Given the description of an element on the screen output the (x, y) to click on. 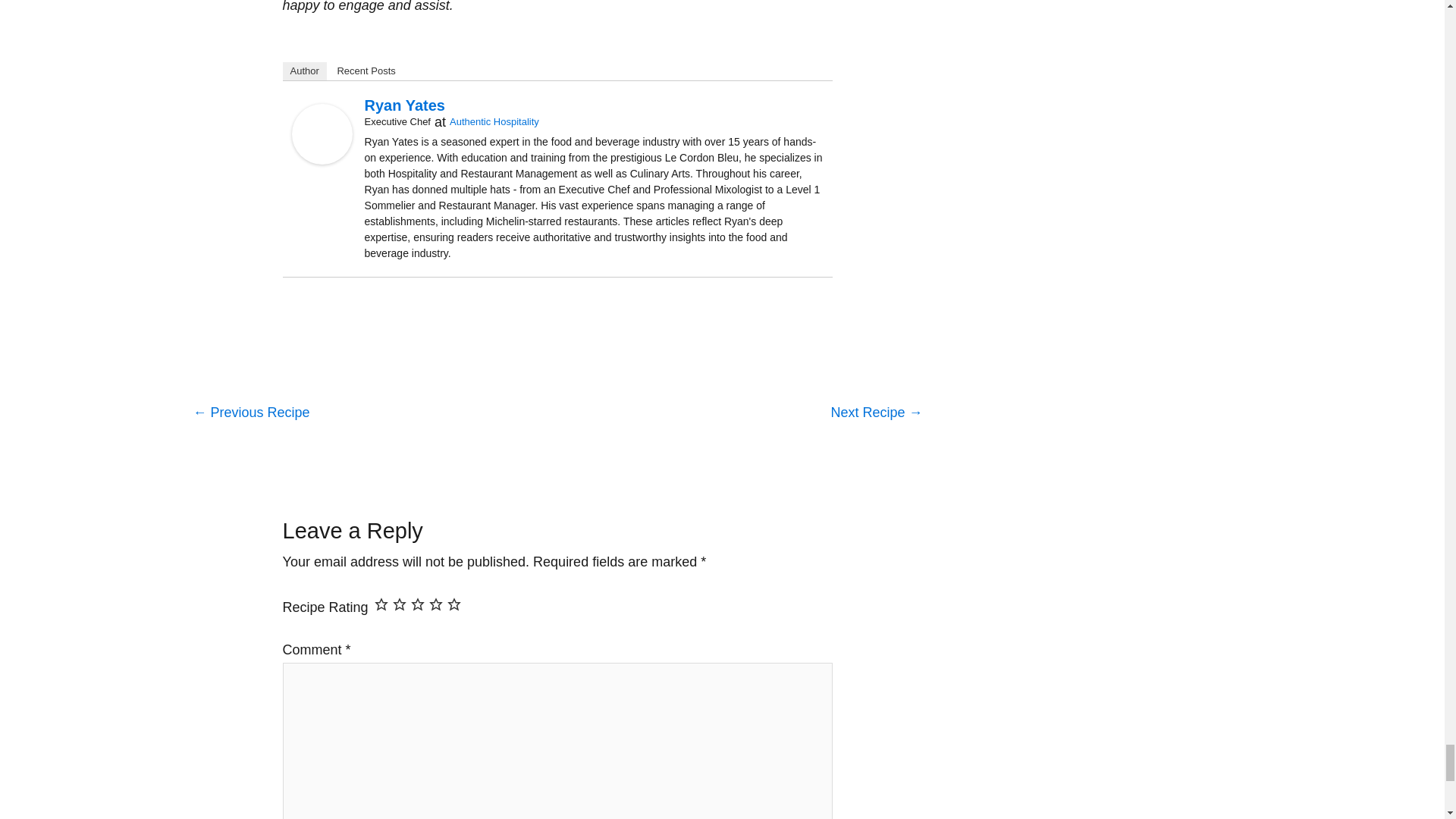
Ryan Yates (322, 133)
Delicious Maryland Crab Soup Recipe (250, 413)
